Given the description of an element on the screen output the (x, y) to click on. 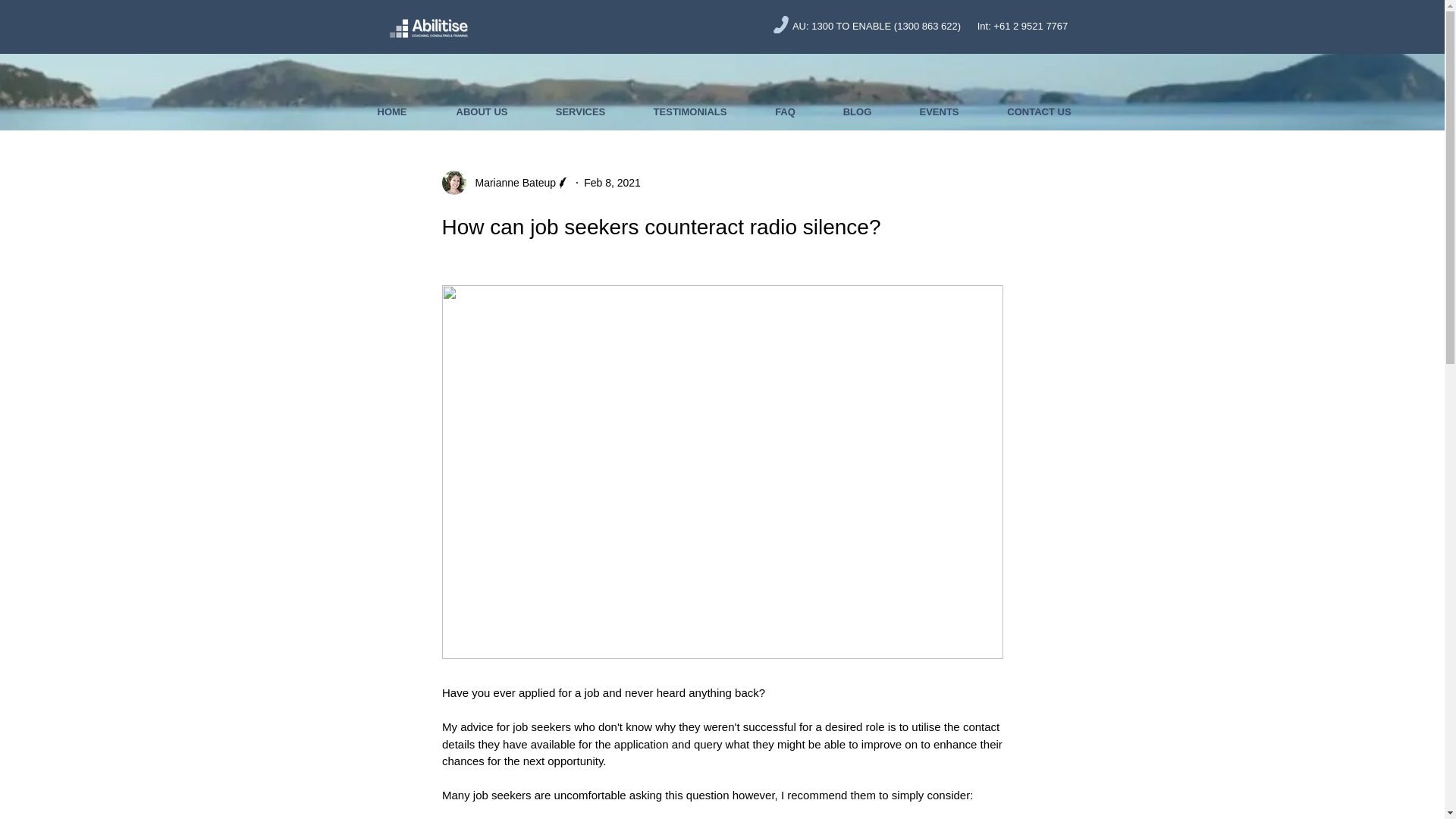
HOME (391, 112)
SERVICES (580, 112)
Abilitise-white-logo.png (428, 26)
Feb 8, 2021 (611, 182)
FAQ (784, 112)
CONTACT US (1038, 112)
ABOUT US (482, 112)
TESTIMONIALS (689, 112)
BLOG (856, 112)
EVENTS (938, 112)
Marianne Bateup (510, 182)
